Given the description of an element on the screen output the (x, y) to click on. 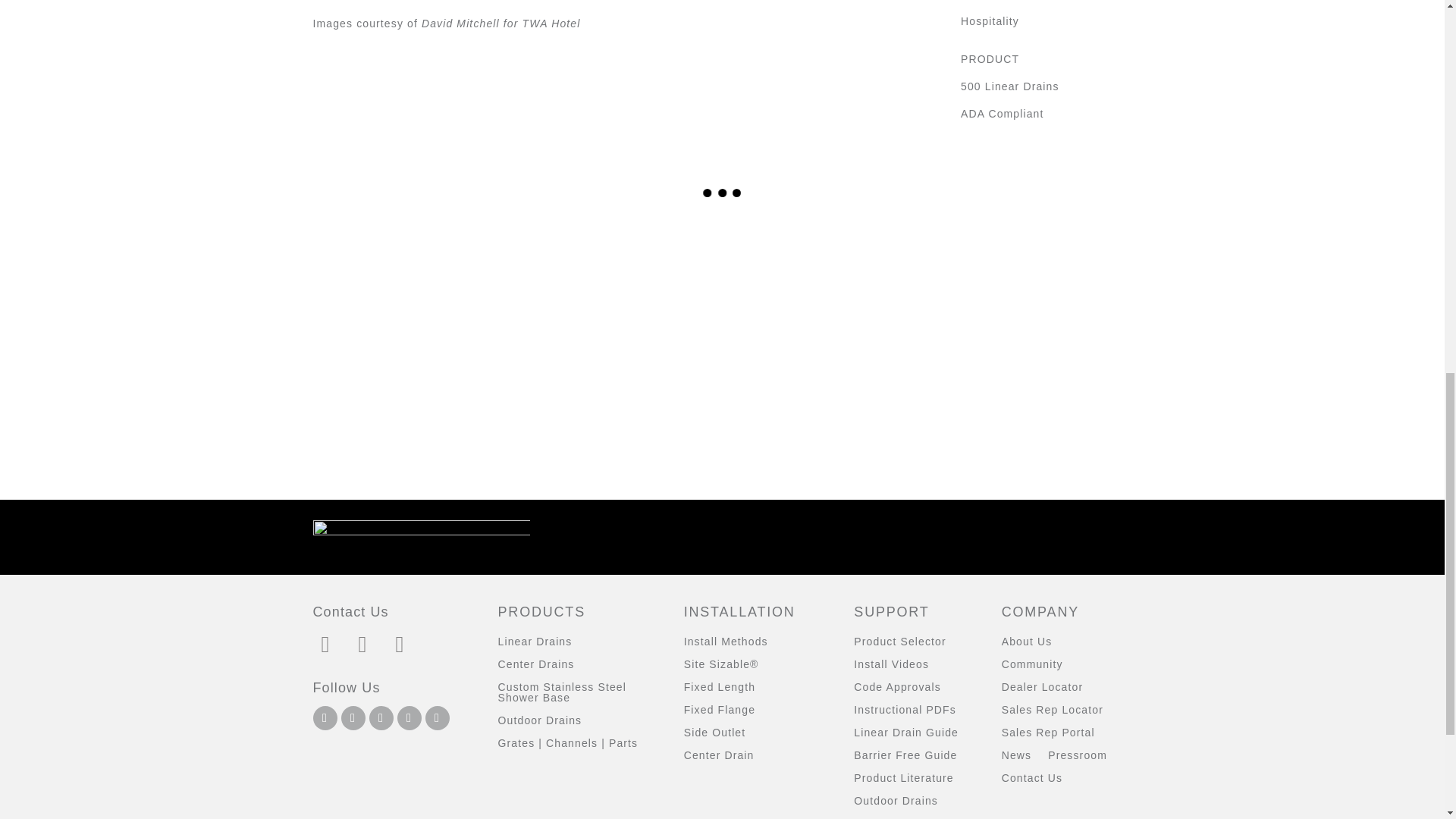
12-TWA-Hotel-Model-Room (409, 269)
TWA-Infinity-Drain (826, 313)
Follow on Instagram (324, 717)
TWA-Infinity-Drain-2 (1035, 313)
12-TWA-Hotel-Model-Room (409, 313)
TWA-Room (617, 313)
TWA-Infinity-Drain (826, 269)
TWA-Room (617, 269)
TWA-Infinity-Drain-2 (1035, 269)
